Given the description of an element on the screen output the (x, y) to click on. 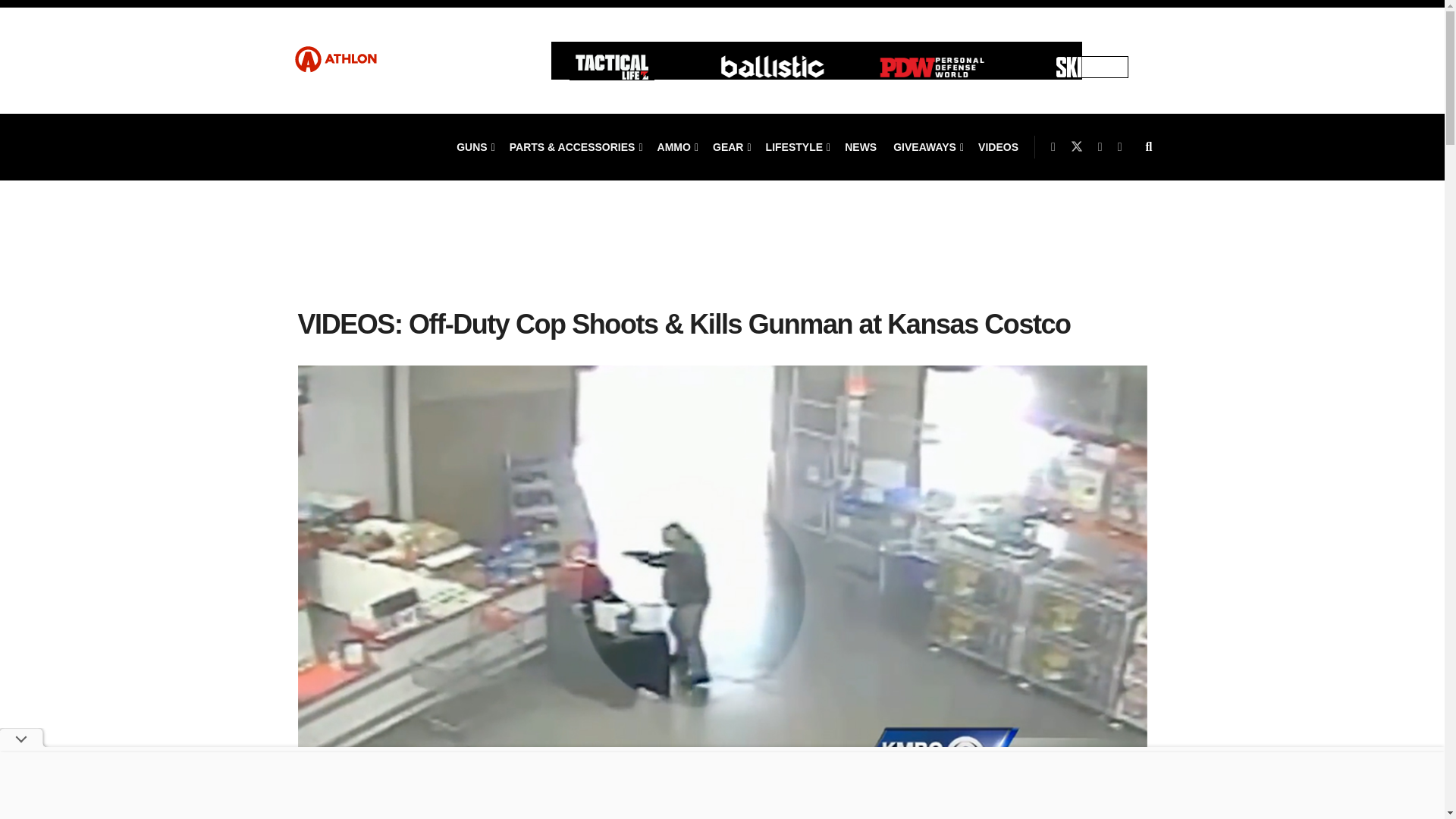
3rd party ad content (722, 260)
GUNS (475, 146)
GEAR (731, 146)
AMMO (676, 146)
